Given the description of an element on the screen output the (x, y) to click on. 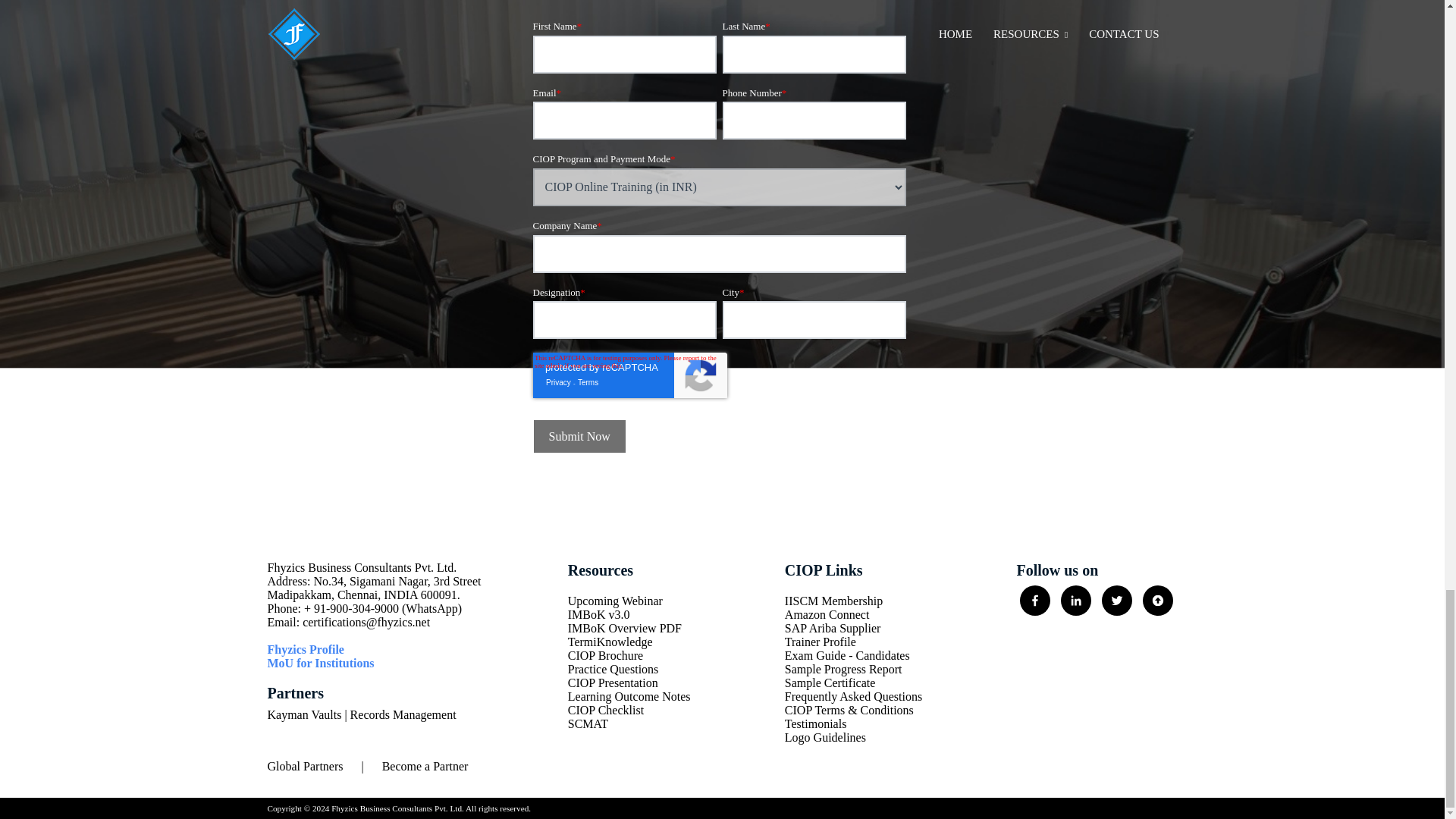
Submit Now (579, 436)
SCMAT (628, 724)
Fhyzics Profile (304, 649)
Global Partners (304, 766)
MoU for Institutions (320, 662)
Upcoming Webinar (628, 601)
Frequently Asked Questions (852, 696)
Sample Certificate (852, 683)
Learning Outcome Notes (628, 696)
Sample Progress Report (852, 669)
